Given the description of an element on the screen output the (x, y) to click on. 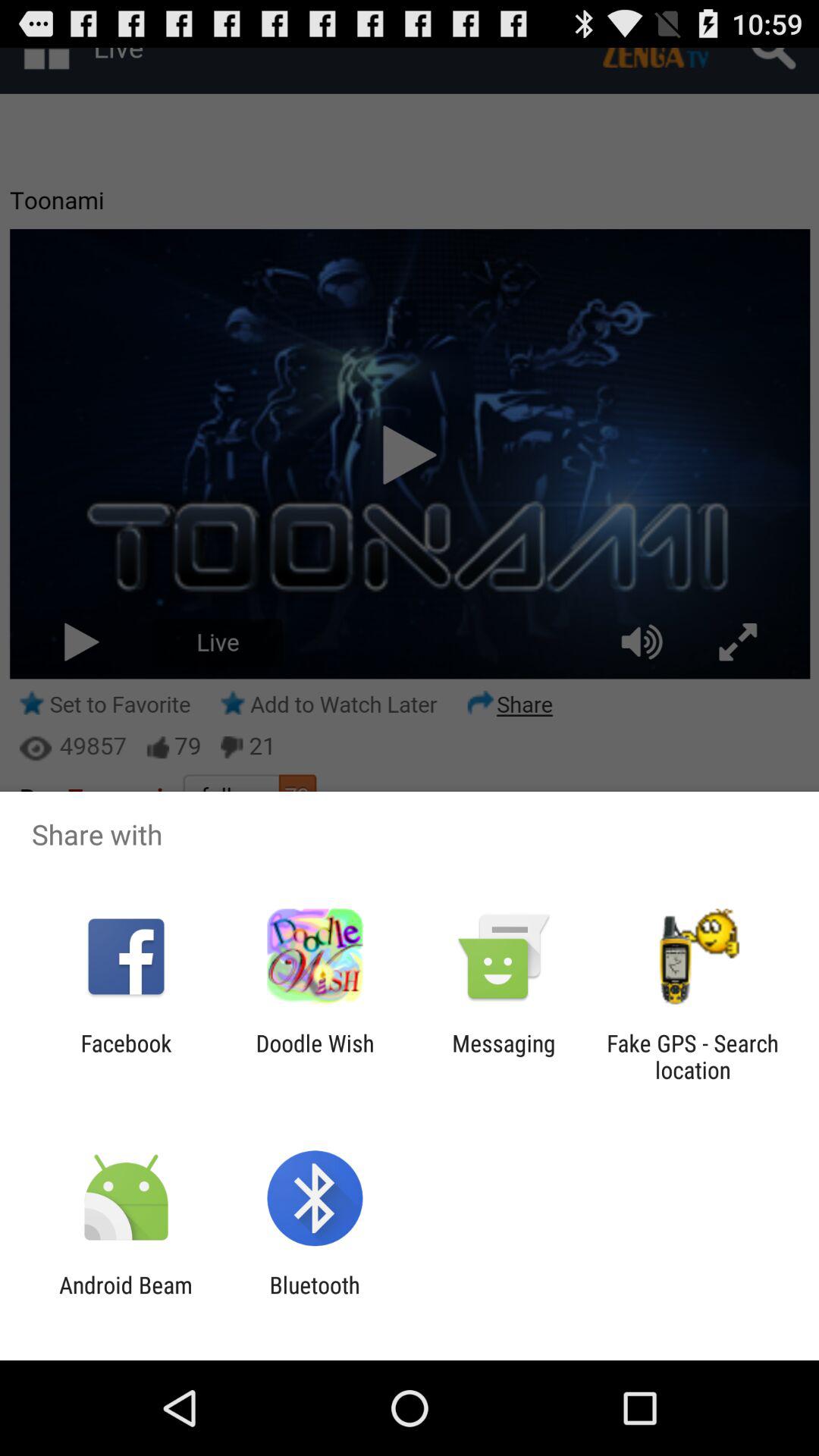
open icon next to messaging app (692, 1056)
